Given the description of an element on the screen output the (x, y) to click on. 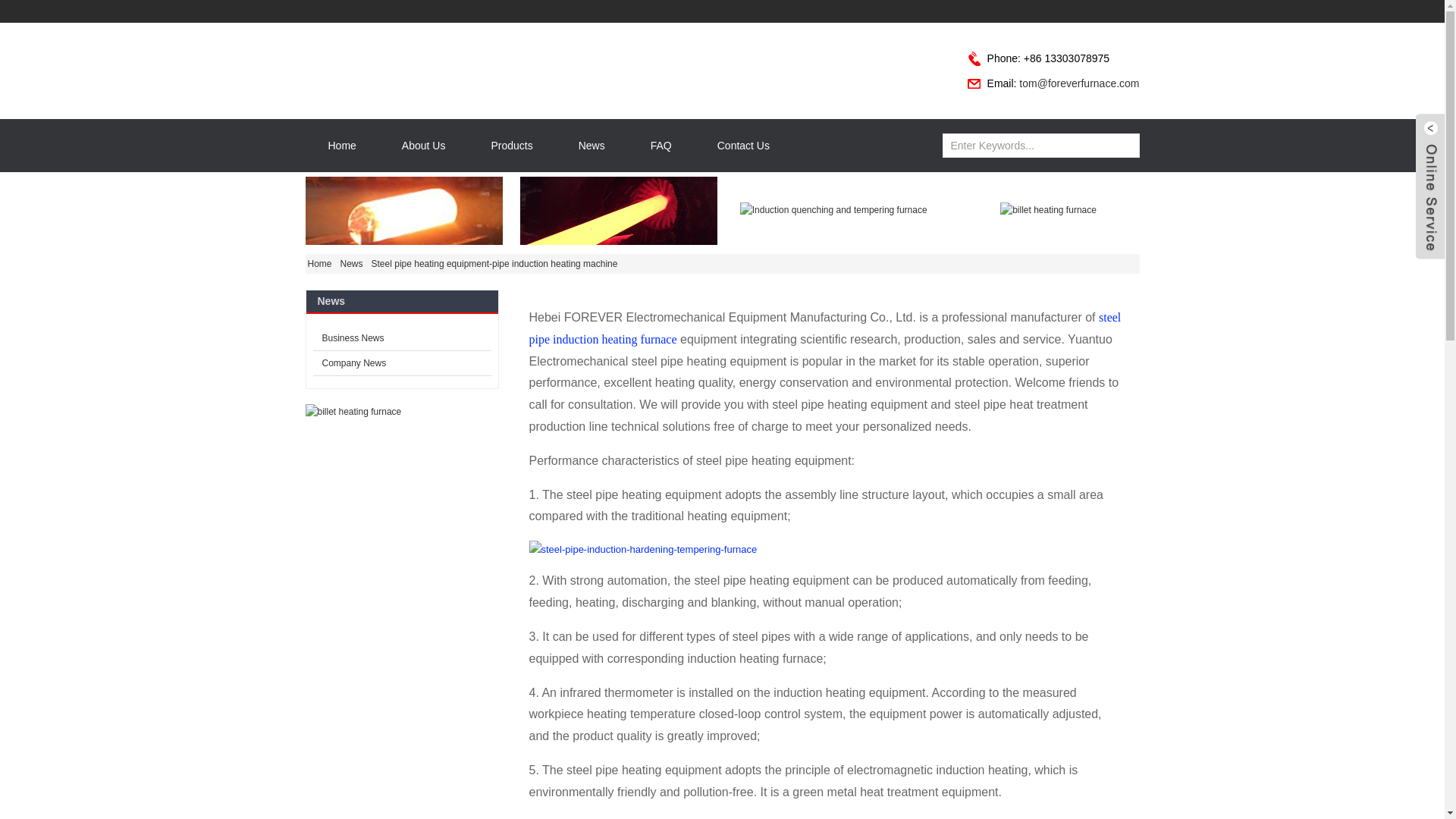
Company News (401, 363)
Contact Us (743, 144)
Home (341, 144)
FAQ (660, 144)
News (353, 263)
Steel pipe heating equipment-pipe induction heating machine (496, 263)
About Us (423, 144)
Enter Keywords... (1029, 145)
steel pipe induction heating furnace (825, 328)
Home (320, 263)
Business News (401, 338)
Enter Keywords... (1029, 145)
Products (510, 144)
News (591, 144)
